Given the description of an element on the screen output the (x, y) to click on. 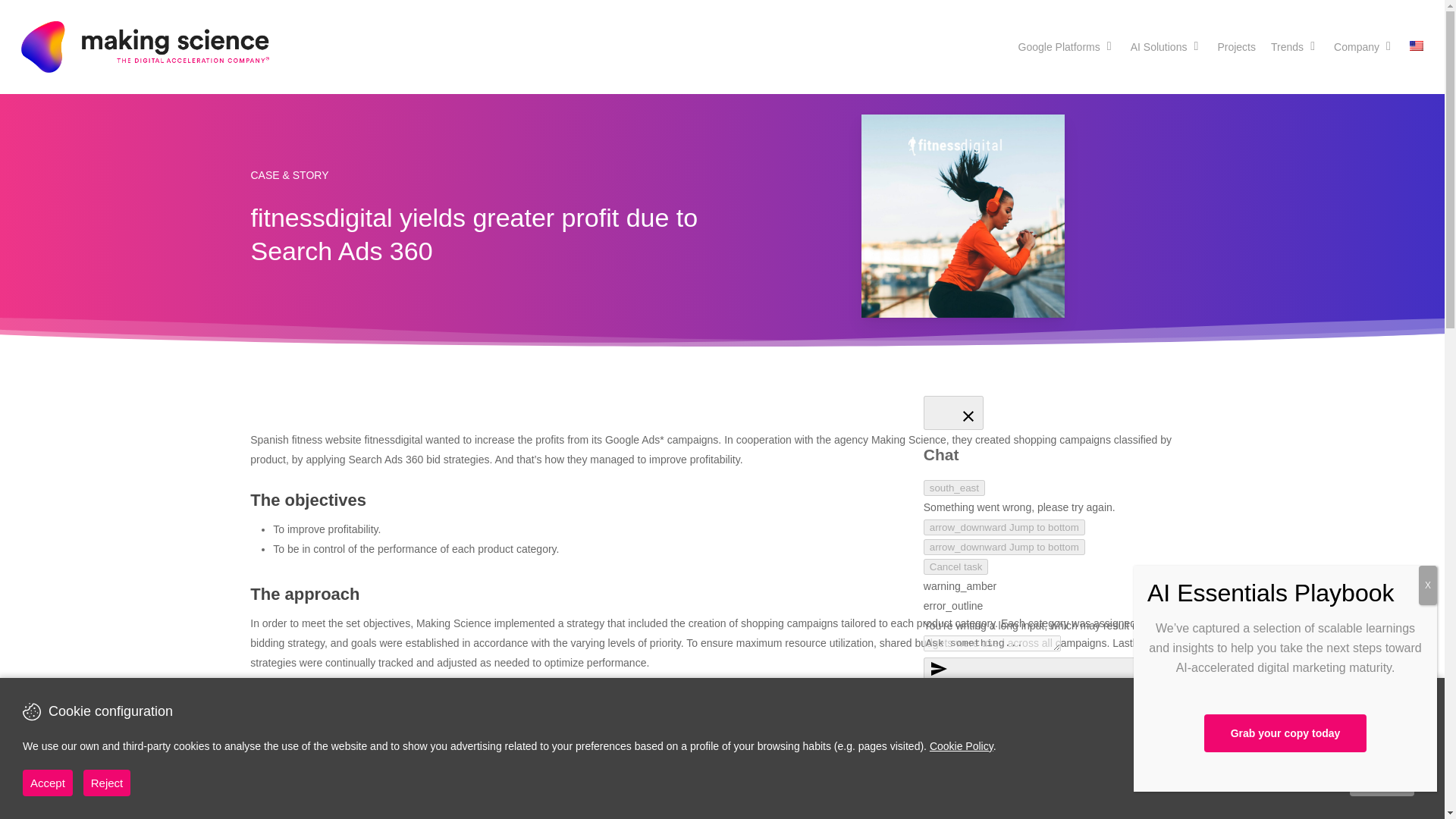
AI Solutions (1166, 46)
Google Platforms (1066, 46)
Projects (1236, 46)
Cookie Policy (961, 746)
Company (1363, 46)
Trends (1295, 46)
